Given the description of an element on the screen output the (x, y) to click on. 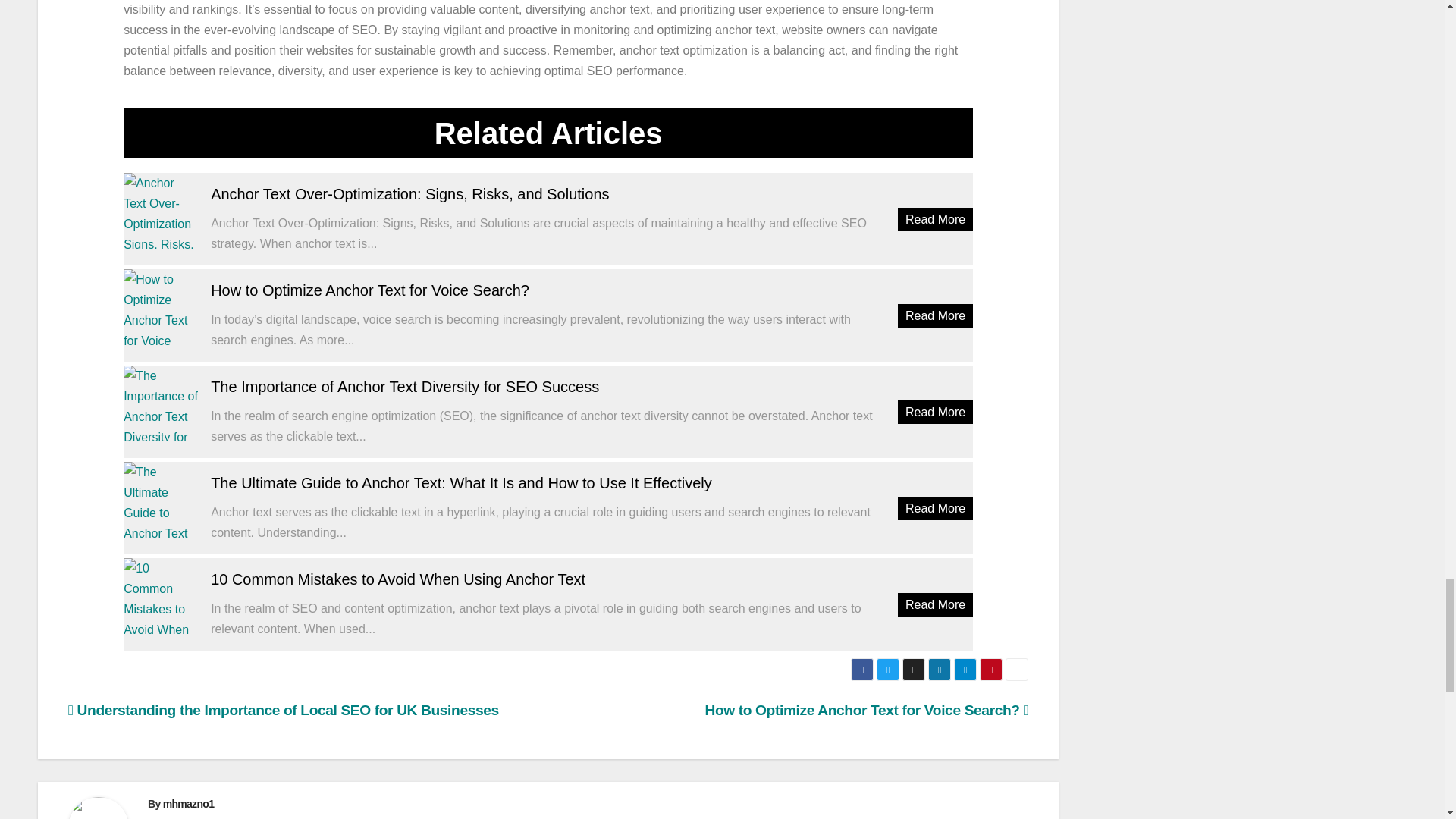
Read More (935, 219)
Read More (935, 412)
Read More (935, 508)
Read More (935, 315)
The Importance of Anchor Text Diversity for SEO Success (404, 386)
Anchor Text Over-Optimization: Signs, Risks, and Solutions (409, 193)
Anchor Text Over-Optimization: Signs, Risks, and Solutions (161, 210)
Anchor Text Over-Optimization: Signs, Risks, and Solutions (409, 193)
How to Optimize Anchor Text for Voice Search? (370, 289)
How to Optimize Anchor Text for Voice Search? (370, 289)
